Given the description of an element on the screen output the (x, y) to click on. 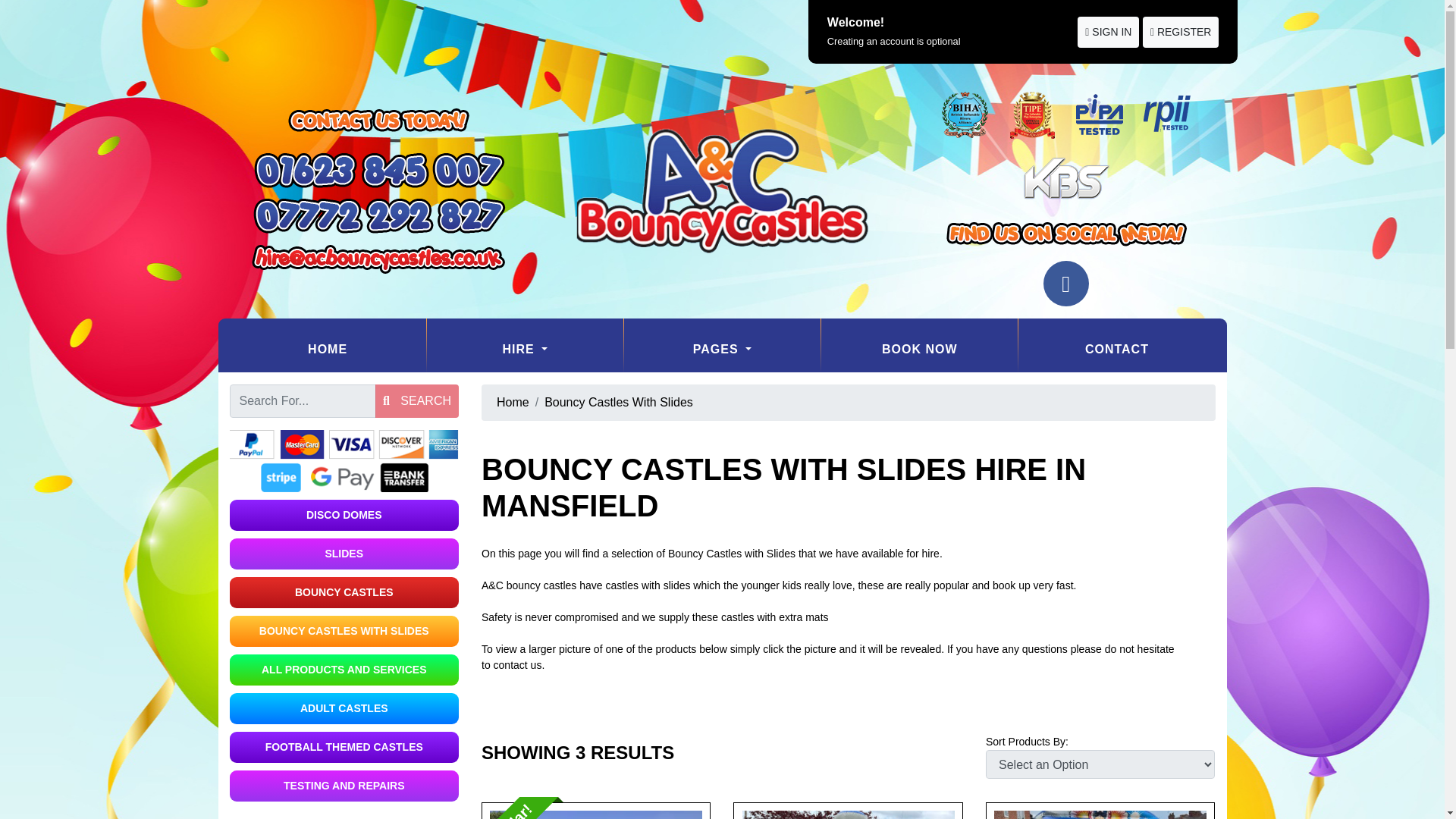
View More (595, 814)
SIGN IN (1107, 31)
SEARCH (416, 400)
ADULT CASTLES (343, 707)
BOUNCY CASTLES WITH SLIDES (343, 631)
Bouncy Castles With Slides (618, 401)
PAGES (722, 348)
A and C Bouncy Castles (722, 191)
FOOTBALL THEMED CASTLES (343, 747)
BOUNCY CASTLES (343, 592)
SLIDES (343, 553)
TESTING AND REPAIRS (343, 785)
Home (512, 401)
BOOK NOW (919, 348)
REGISTER (1181, 31)
